Given the description of an element on the screen output the (x, y) to click on. 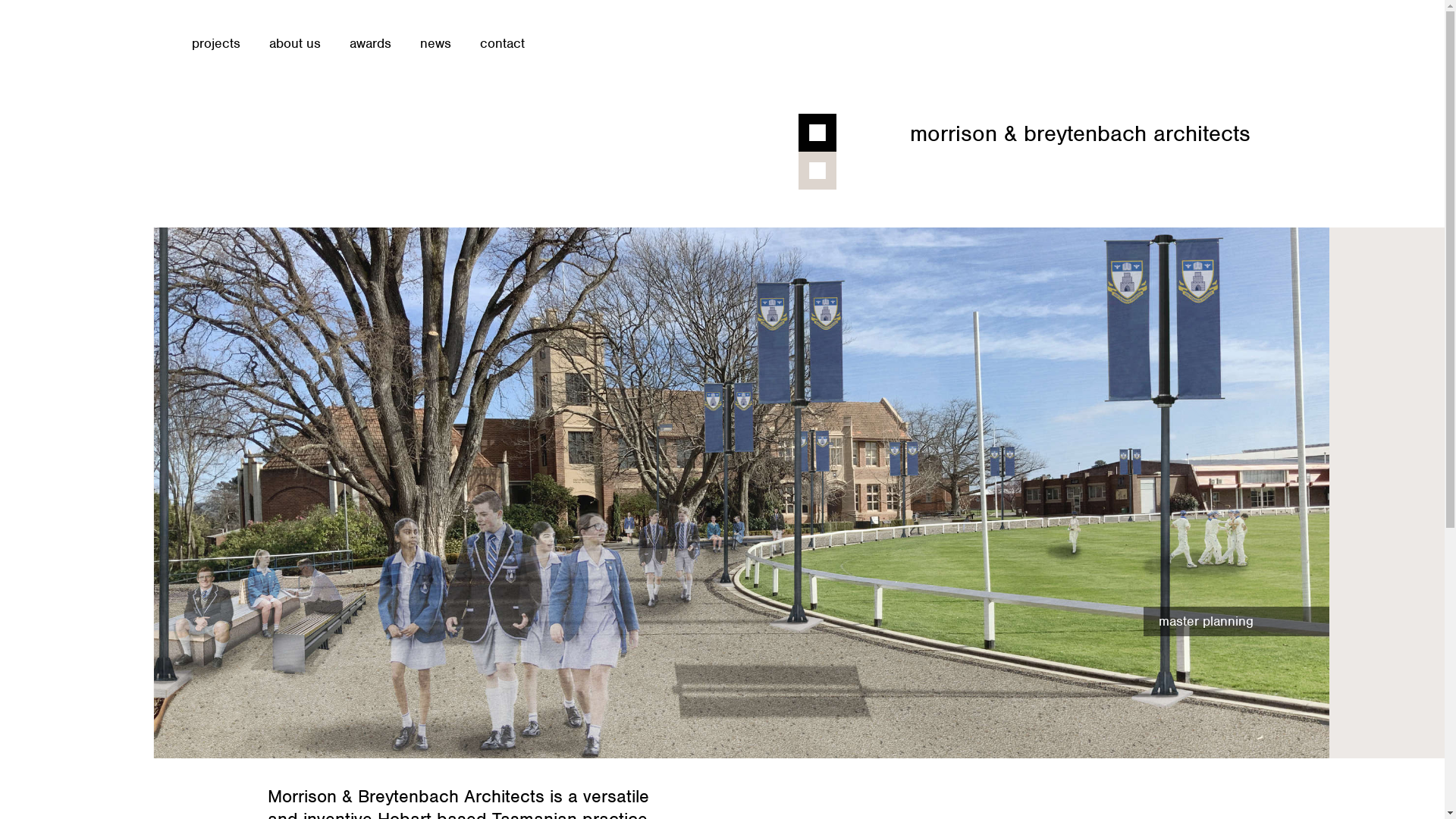
news Element type: text (435, 43)
awards Element type: text (369, 43)
morrison & breytenbach architects Element type: text (1080, 133)
contact Element type: text (501, 43)
about us Element type: text (294, 43)
projects Element type: text (215, 43)
residential Element type: text (740, 492)
